Given the description of an element on the screen output the (x, y) to click on. 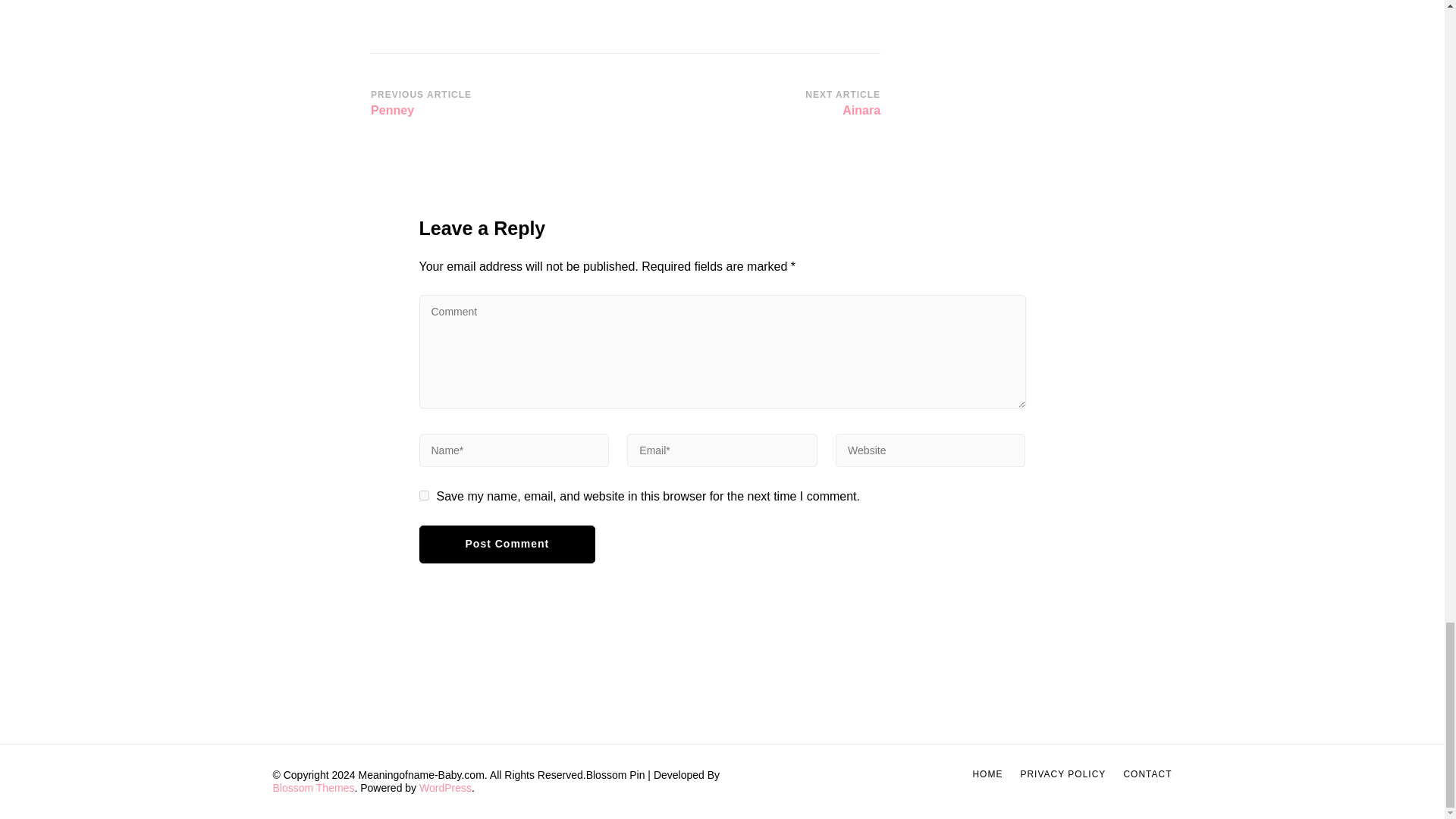
yes (423, 495)
Post Comment (493, 103)
